Given the description of an element on the screen output the (x, y) to click on. 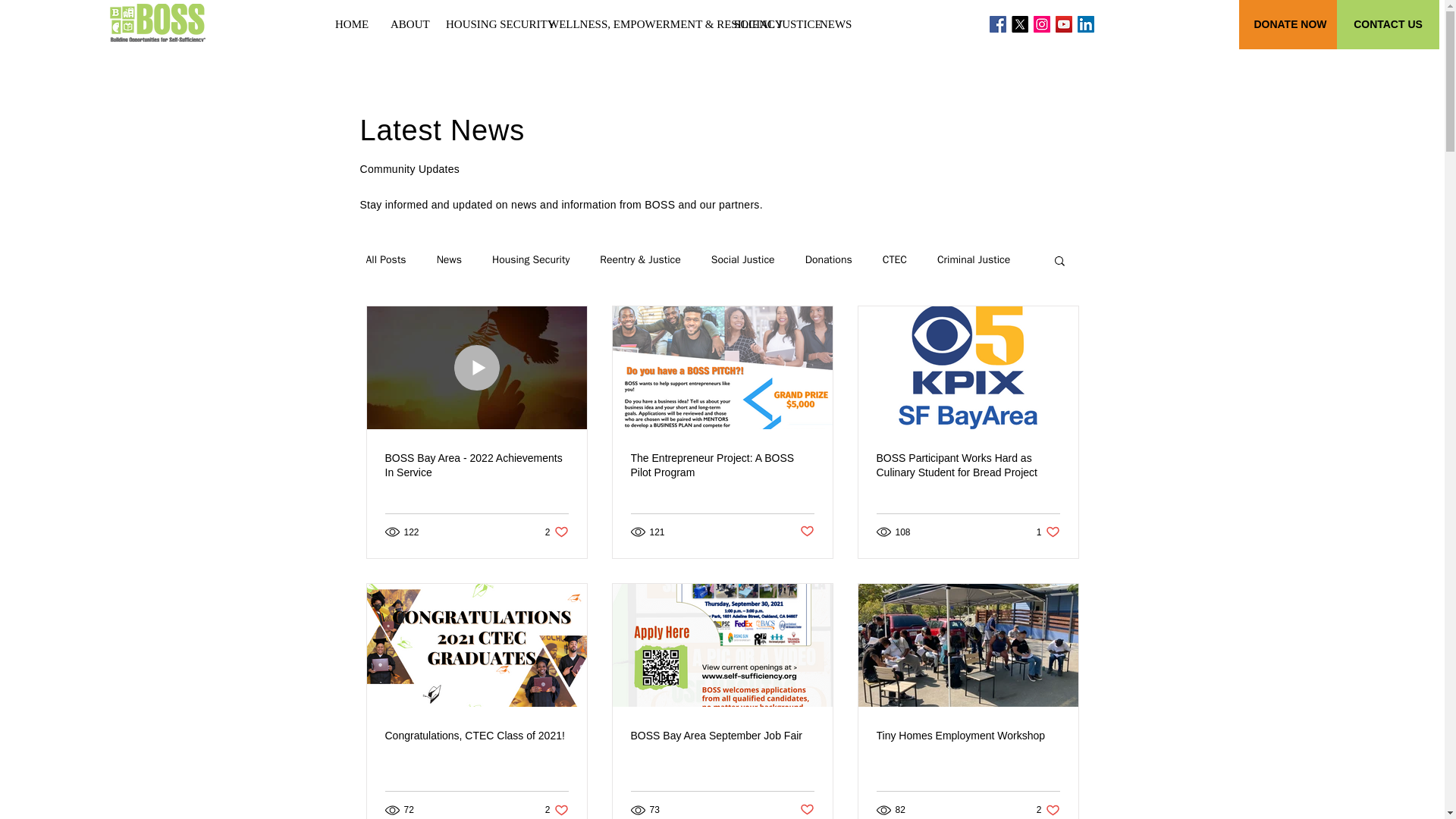
SOCIAL JUSTICE (765, 24)
NEWS (834, 24)
News (448, 259)
HOUSING SECURITY (485, 24)
DONATE NOW (1289, 24)
All Posts (385, 259)
Housing Security (530, 259)
HOME (350, 24)
CONTACT US (1387, 24)
